Given the description of an element on the screen output the (x, y) to click on. 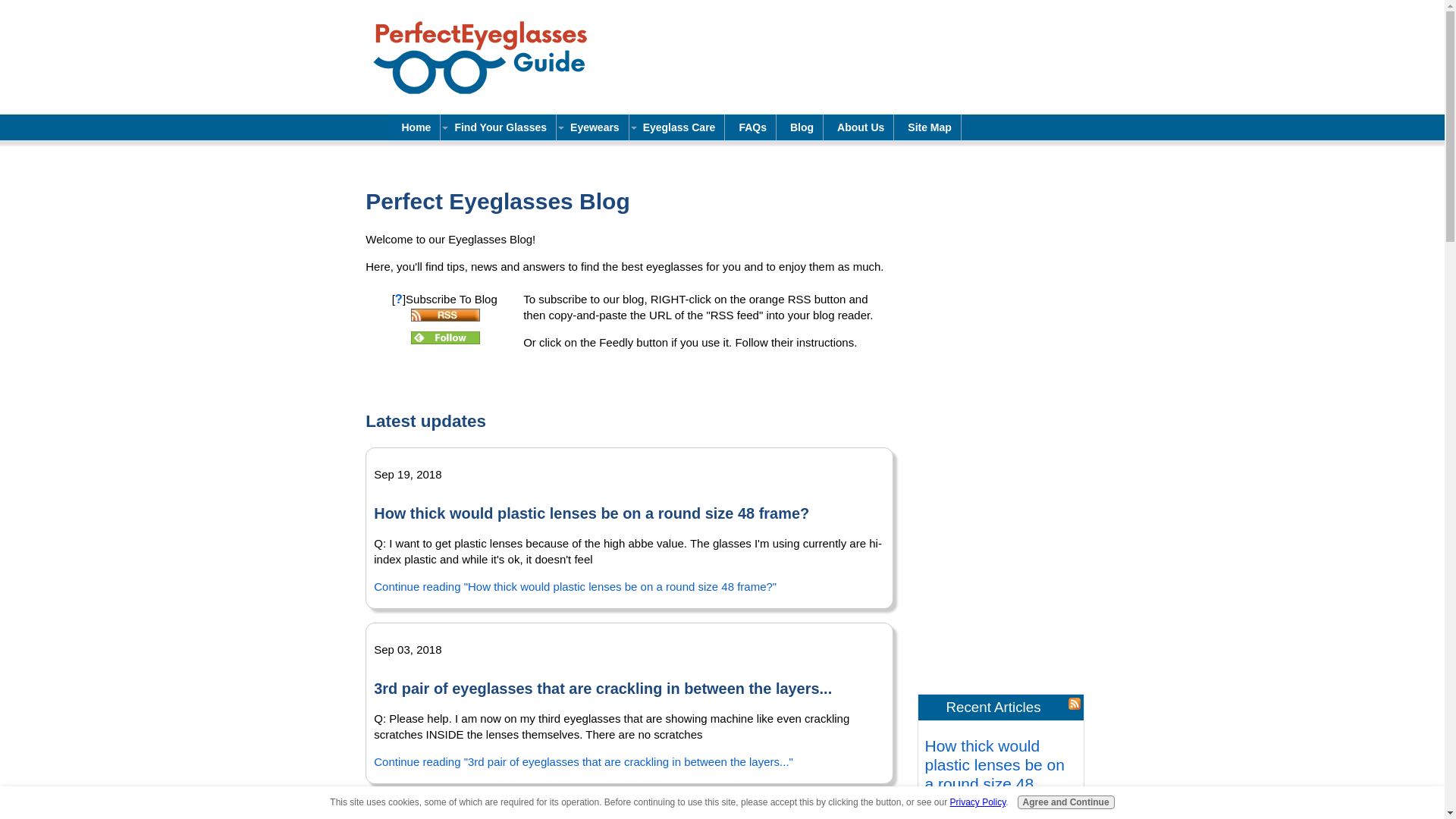
Site Map (926, 127)
About Us (858, 127)
Blog (799, 127)
Home (414, 127)
perfect-eyeglasses-guide.com (490, 58)
FAQs (750, 127)
